Given the description of an element on the screen output the (x, y) to click on. 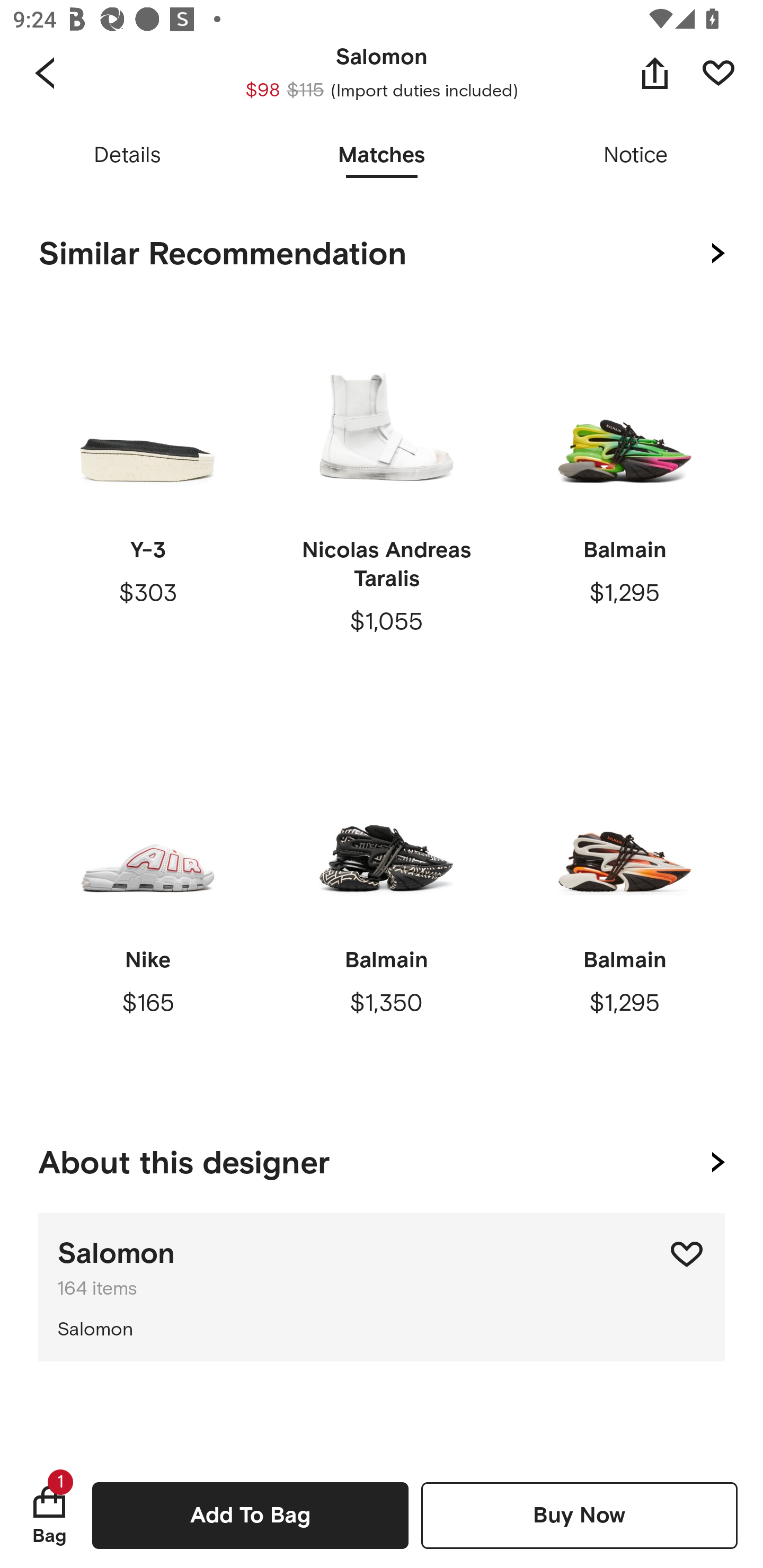
 View size chart (381, 157)
Similar Recommendation (381, 253)
Y-3 $303 (147, 499)
Nicolas Andreas Taralis $1,055 (385, 499)
Balmain $1,295 (624, 499)
Nike $165 (147, 909)
Balmain $1,350 (385, 909)
Balmain $1,295 (624, 909)
About this designer (381, 1159)
Salomon 164 items Salomon (381, 1287)
Bag 1 (49, 1515)
Add To Bag (250, 1515)
Buy Now (579, 1515)
